Given the description of an element on the screen output the (x, y) to click on. 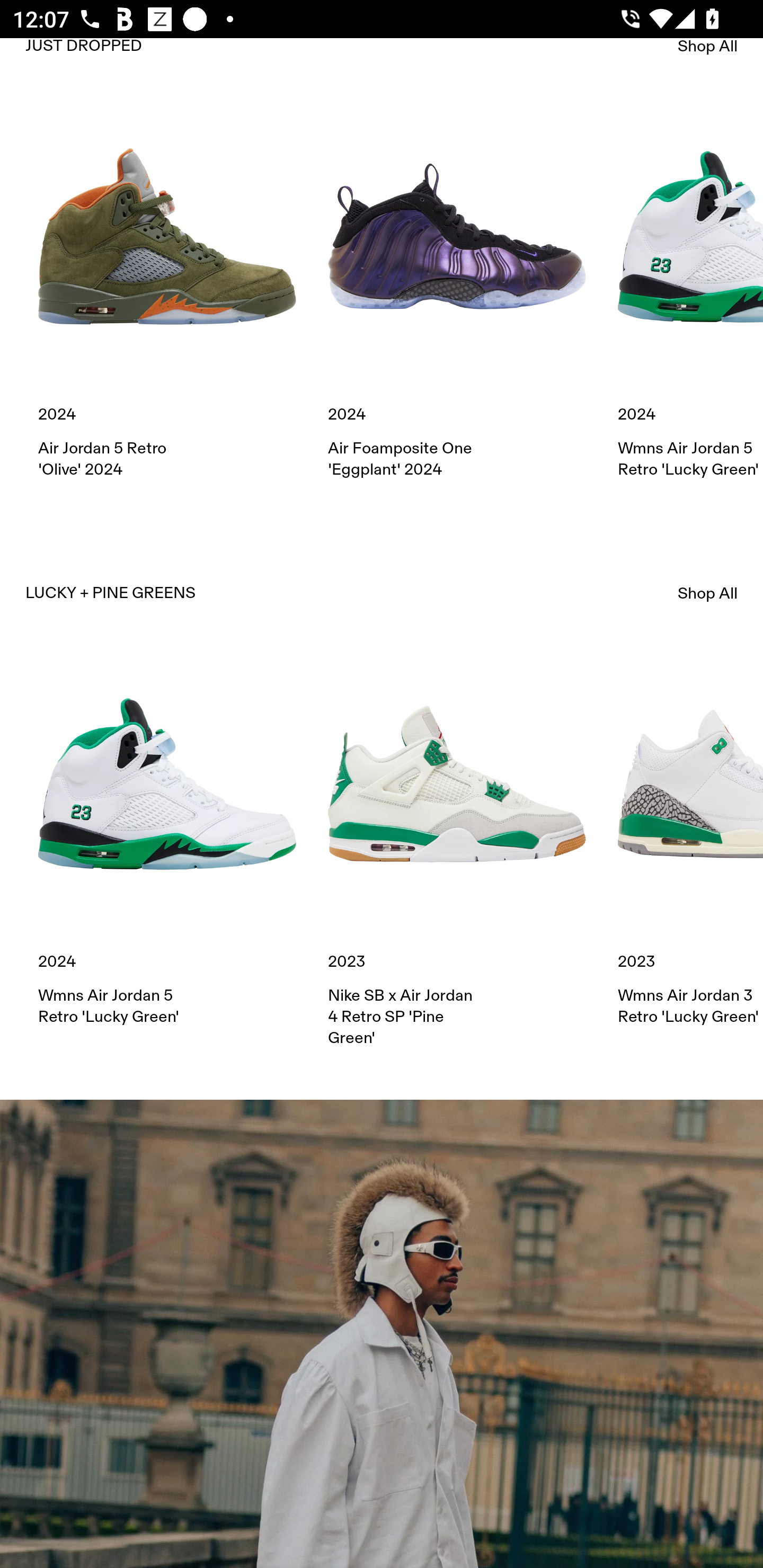
Shop All (707, 49)
2024 Air Jordan 5 Retro 'Olive' 2024 (167, 293)
2024 Air Foamposite One 'Eggplant' 2024 (456, 293)
2024 Wmns Air Jordan 5 Retro 'Lucky Green' (690, 293)
Shop All (707, 593)
2024 Wmns Air Jordan 5 Retro 'Lucky Green' (167, 841)
2023 Nike SB x Air Jordan 4 Retro SP 'Pine Green' (456, 851)
2023 Wmns Air Jordan 3 Retro 'Lucky Green' (690, 841)
